Given the description of an element on the screen output the (x, y) to click on. 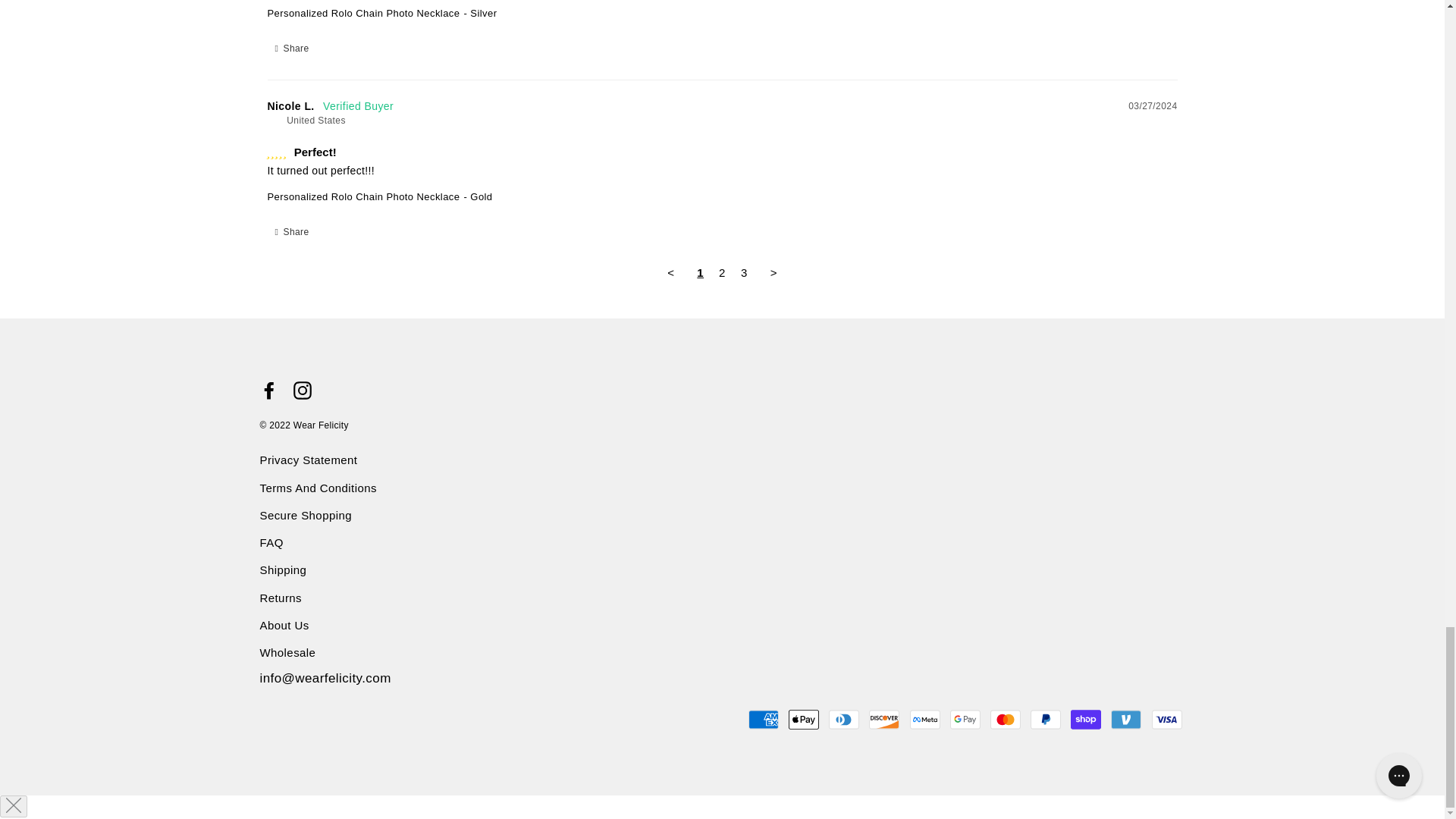
Venmo (1125, 719)
Apple Pay (803, 719)
PayPal (1045, 719)
Google Pay (964, 719)
Shop Pay (1085, 719)
Mastercard (1005, 719)
American Express (763, 719)
Diners Club (843, 719)
Wear Felicity on Instagram (302, 389)
Meta Pay (925, 719)
Discover (884, 719)
